Given the description of an element on the screen output the (x, y) to click on. 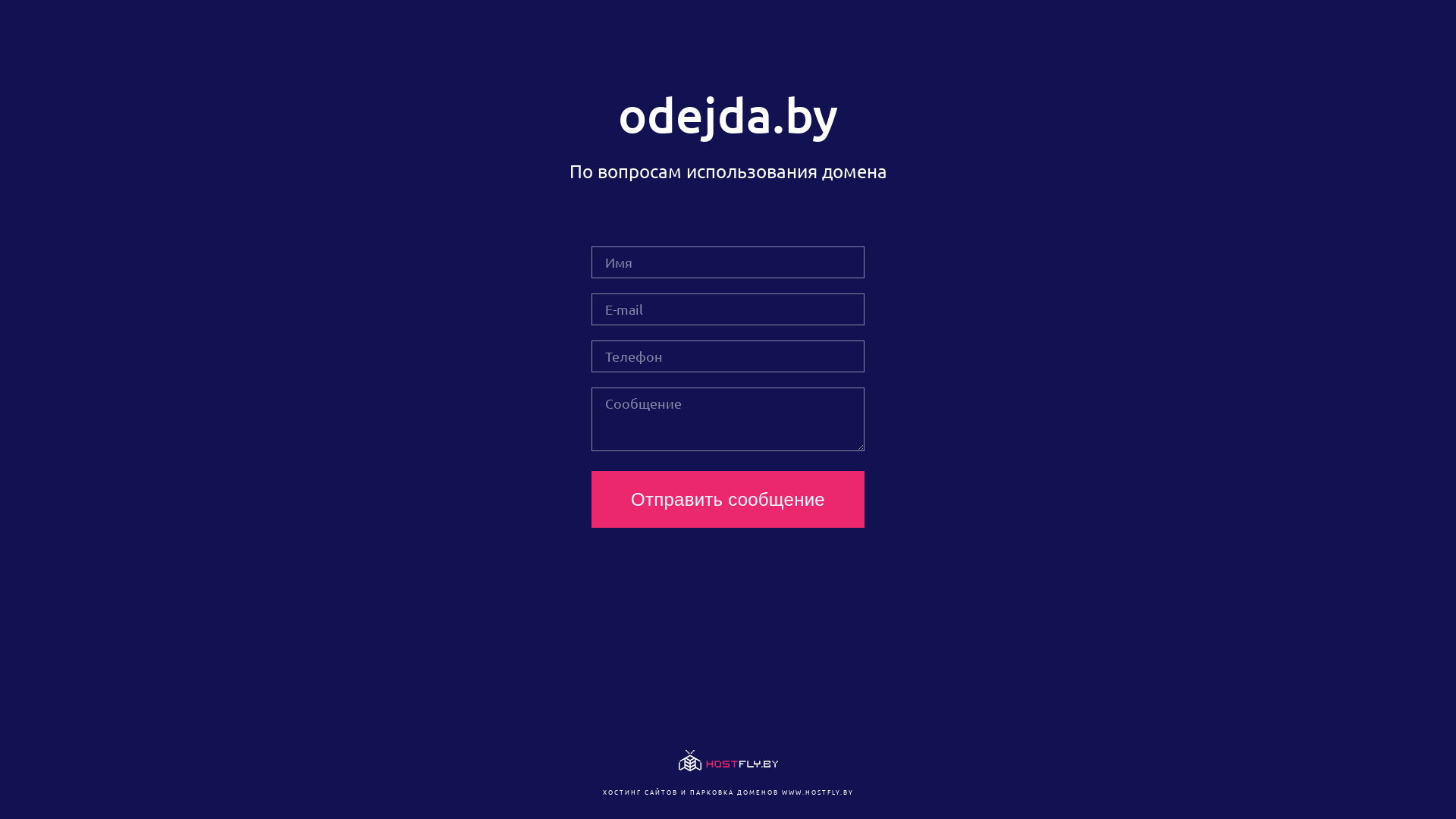
WWW.HOSTFLY.BY Element type: text (817, 791)
